Given the description of an element on the screen output the (x, y) to click on. 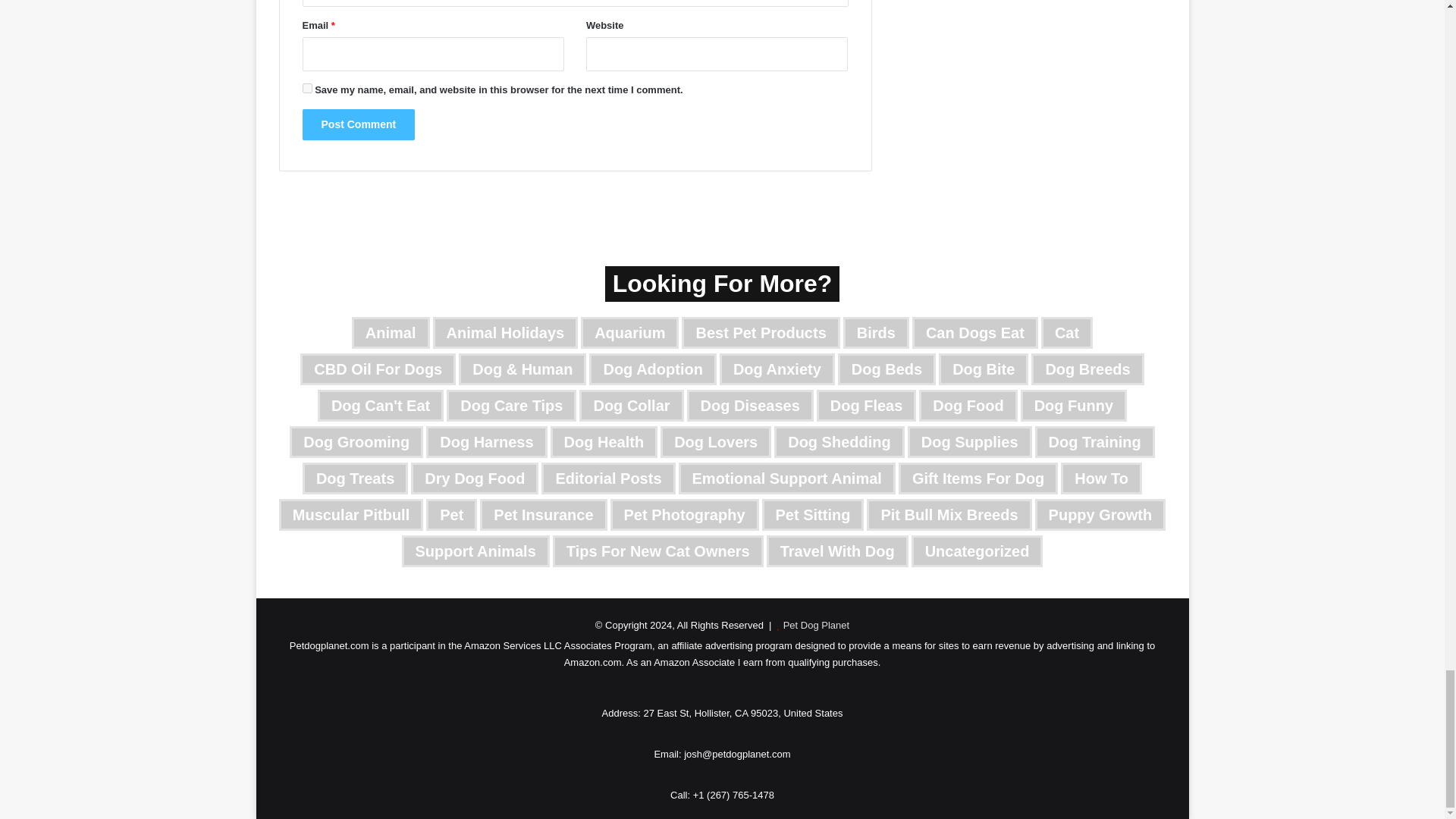
Post Comment (357, 124)
yes (306, 88)
